Given the description of an element on the screen output the (x, y) to click on. 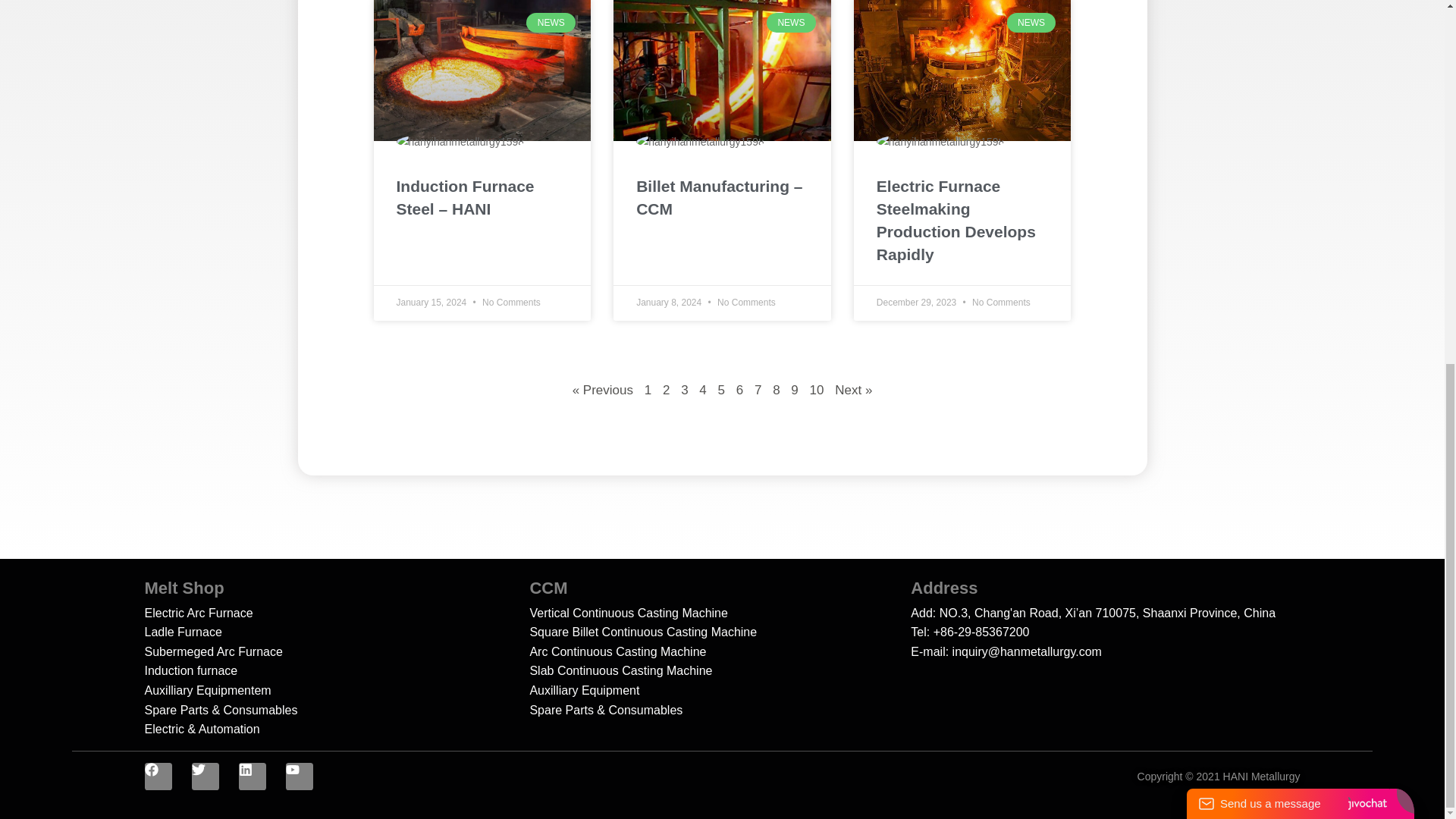
Electric Furnace Steelmaking Production Develops Rapidly (962, 220)
